Given the description of an element on the screen output the (x, y) to click on. 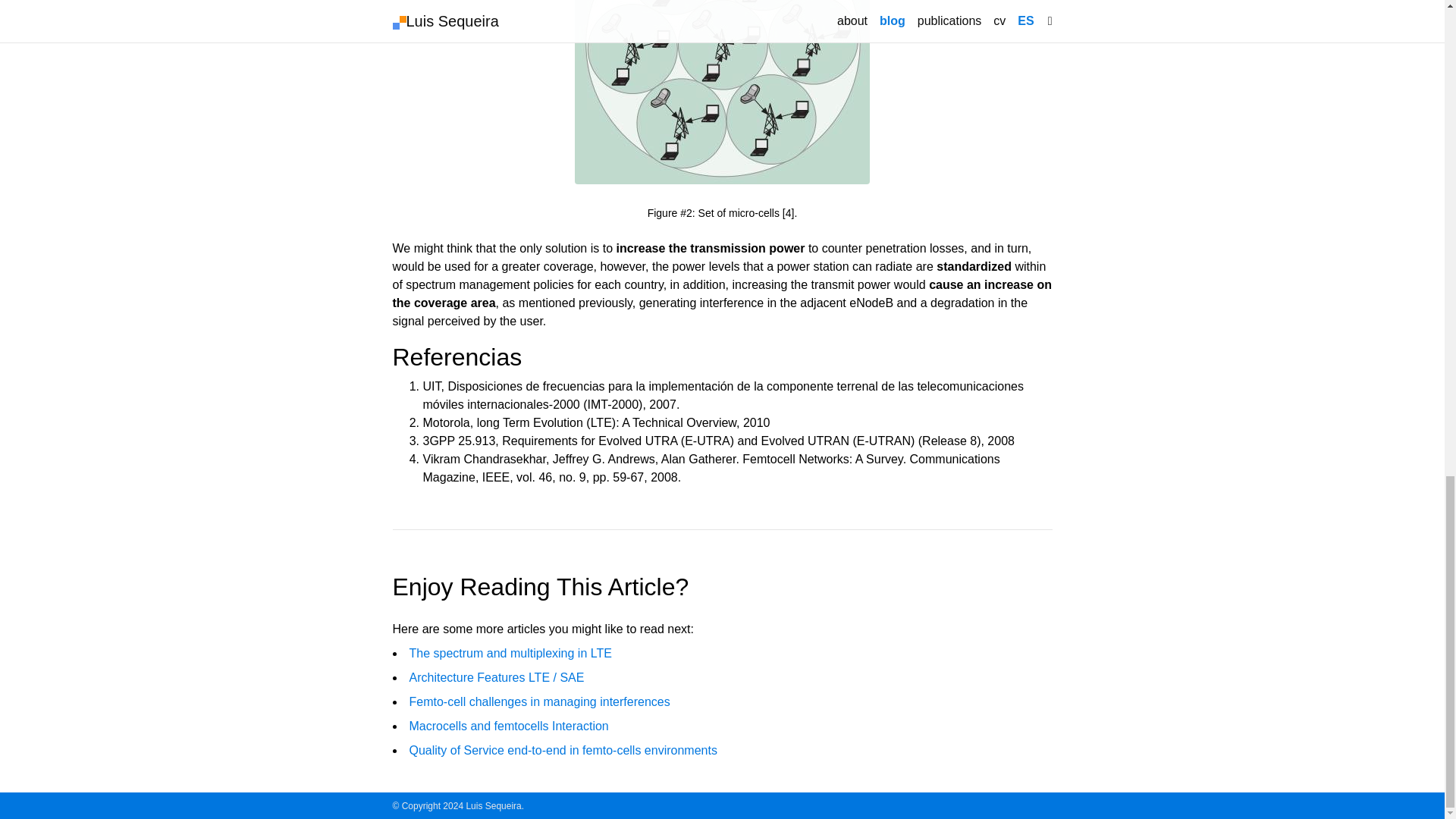
Macrocells and femtocells Interaction (508, 725)
The spectrum and multiplexing in LTE (510, 653)
Femto-cell challenges in managing interferences (539, 701)
Quality of Service end-to-end in femto-cells environments (563, 749)
